Given the description of an element on the screen output the (x, y) to click on. 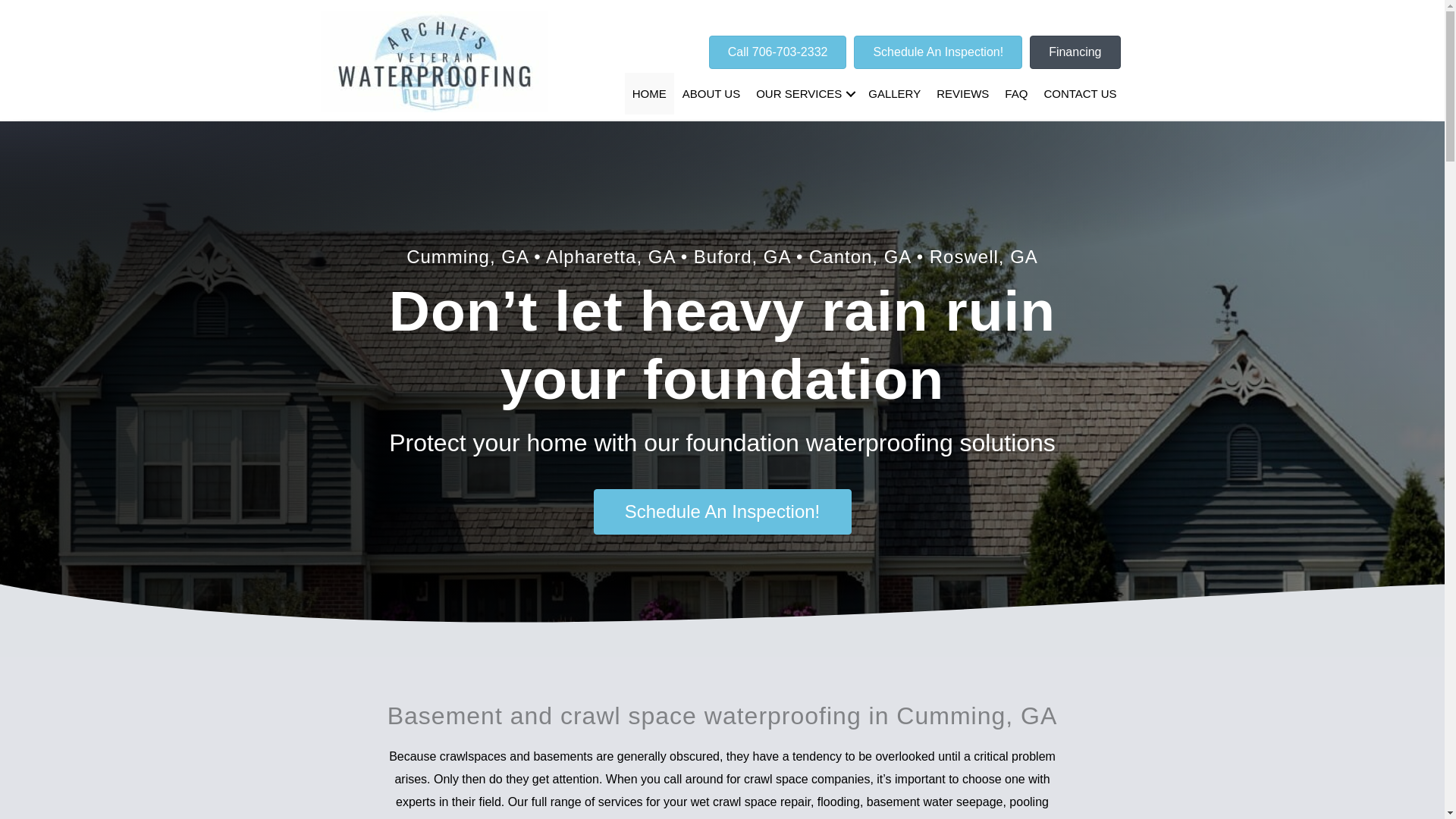
FAQ (1016, 93)
Schedule An Inspection! (721, 511)
Financing (1074, 52)
Logo (433, 61)
REVIEWS (961, 93)
Schedule An Inspection! (937, 52)
ABOUT US (711, 93)
GALLERY (894, 93)
CONTACT US (1079, 93)
HOME (649, 93)
OUR SERVICES (804, 93)
Call 706-703-2332 (778, 52)
